Given the description of an element on the screen output the (x, y) to click on. 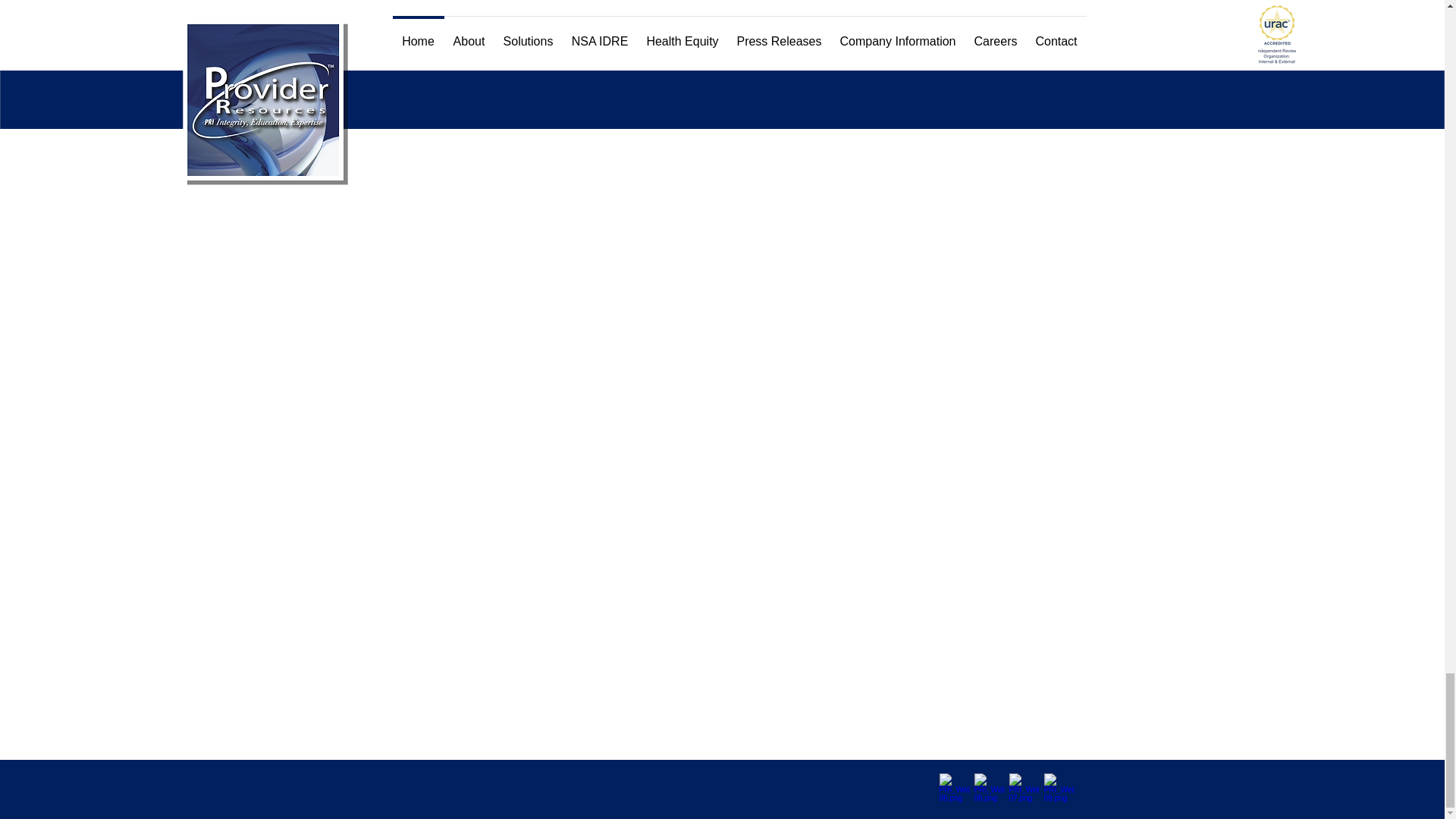
Privacy Statement (1058, 789)
